Given the description of an element on the screen output the (x, y) to click on. 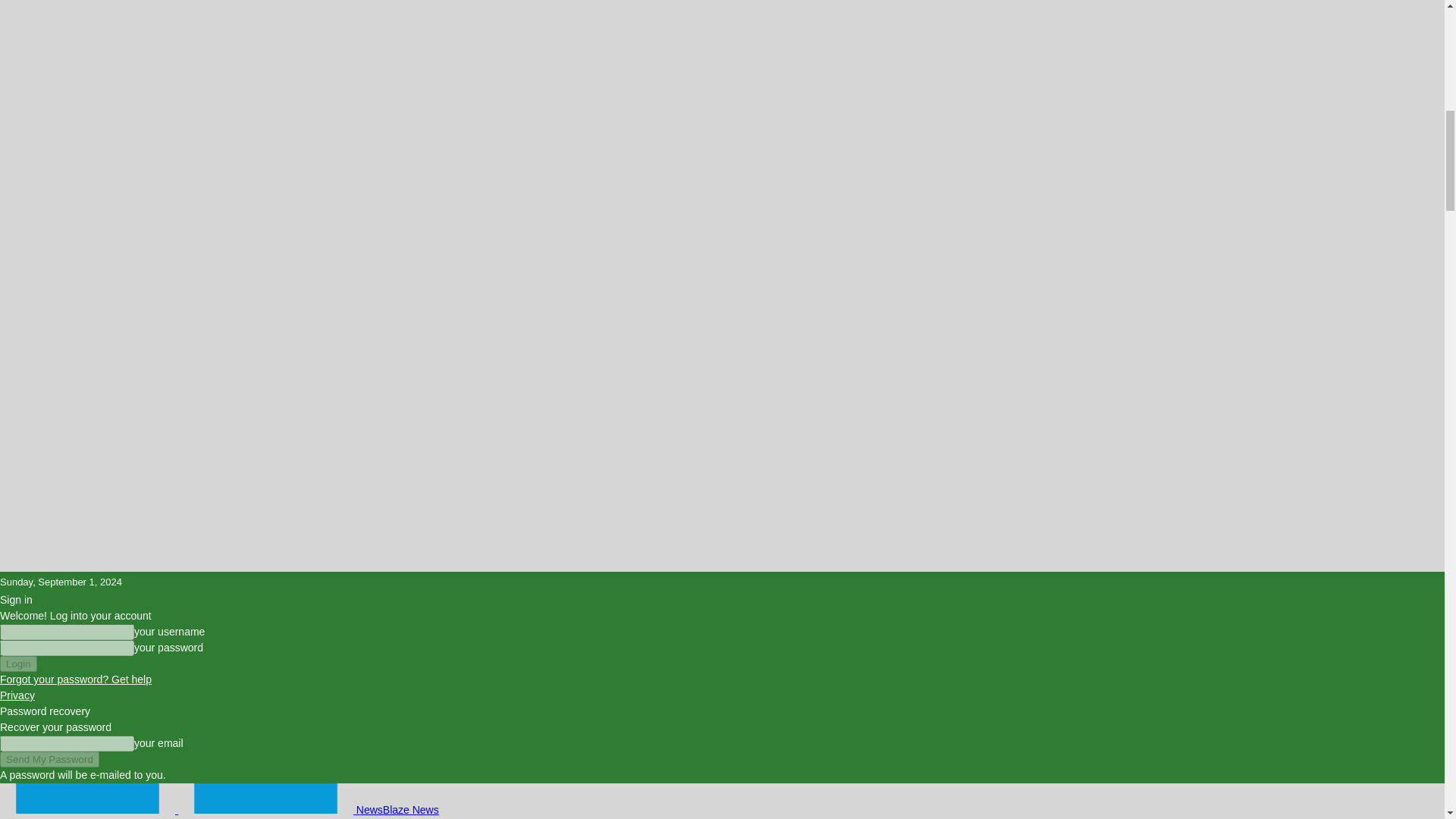
Send My Password (49, 759)
Login (18, 663)
NewsBlaze News logo (265, 798)
NewsBlaze News logo (87, 798)
